Given the description of an element on the screen output the (x, y) to click on. 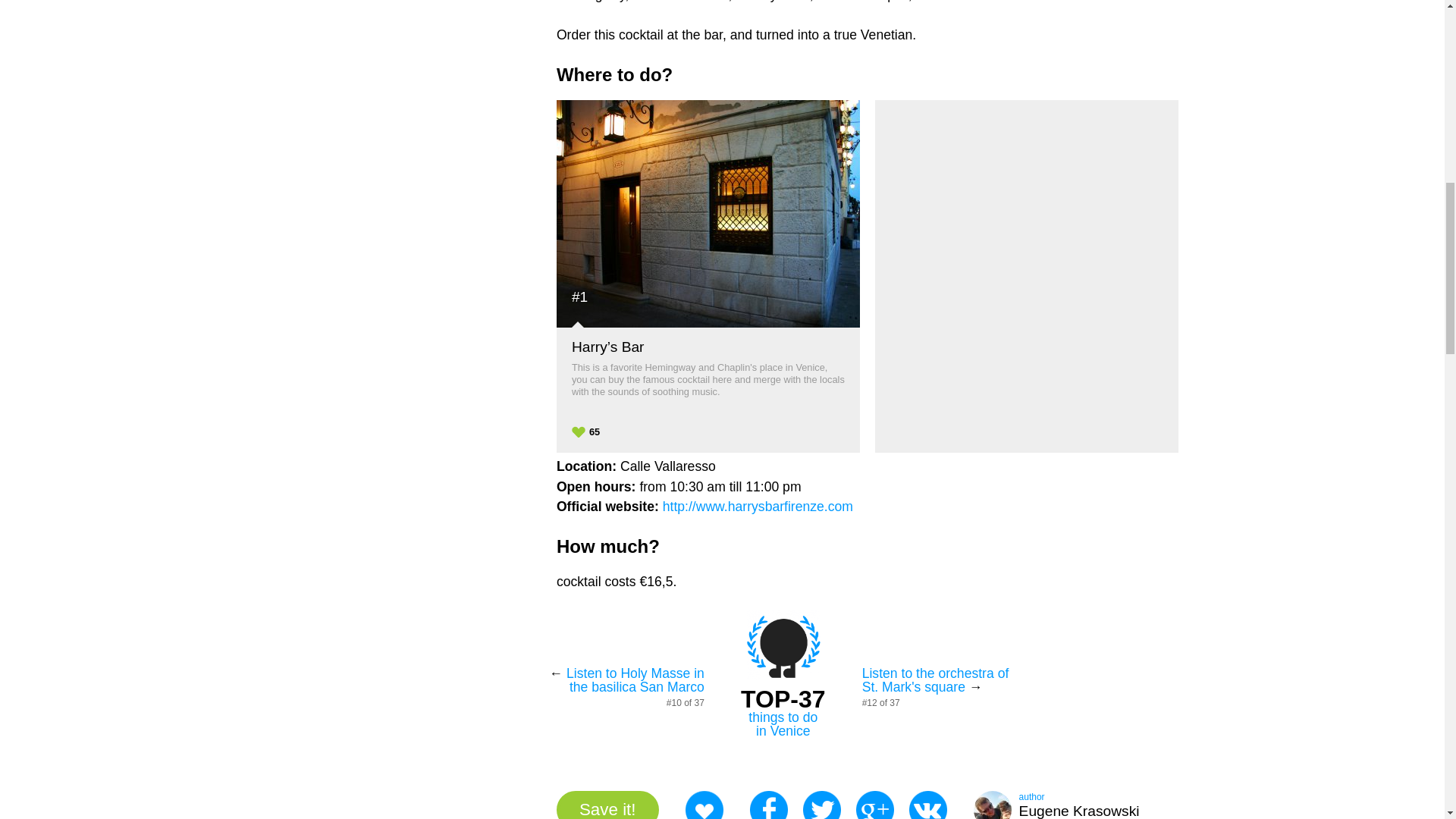
Save it! (607, 805)
Listen to the orchestra of St. Mark's square (1057, 805)
Listen to Holy Masse in the basilica San Marco (782, 724)
65 likes (935, 679)
